Given the description of an element on the screen output the (x, y) to click on. 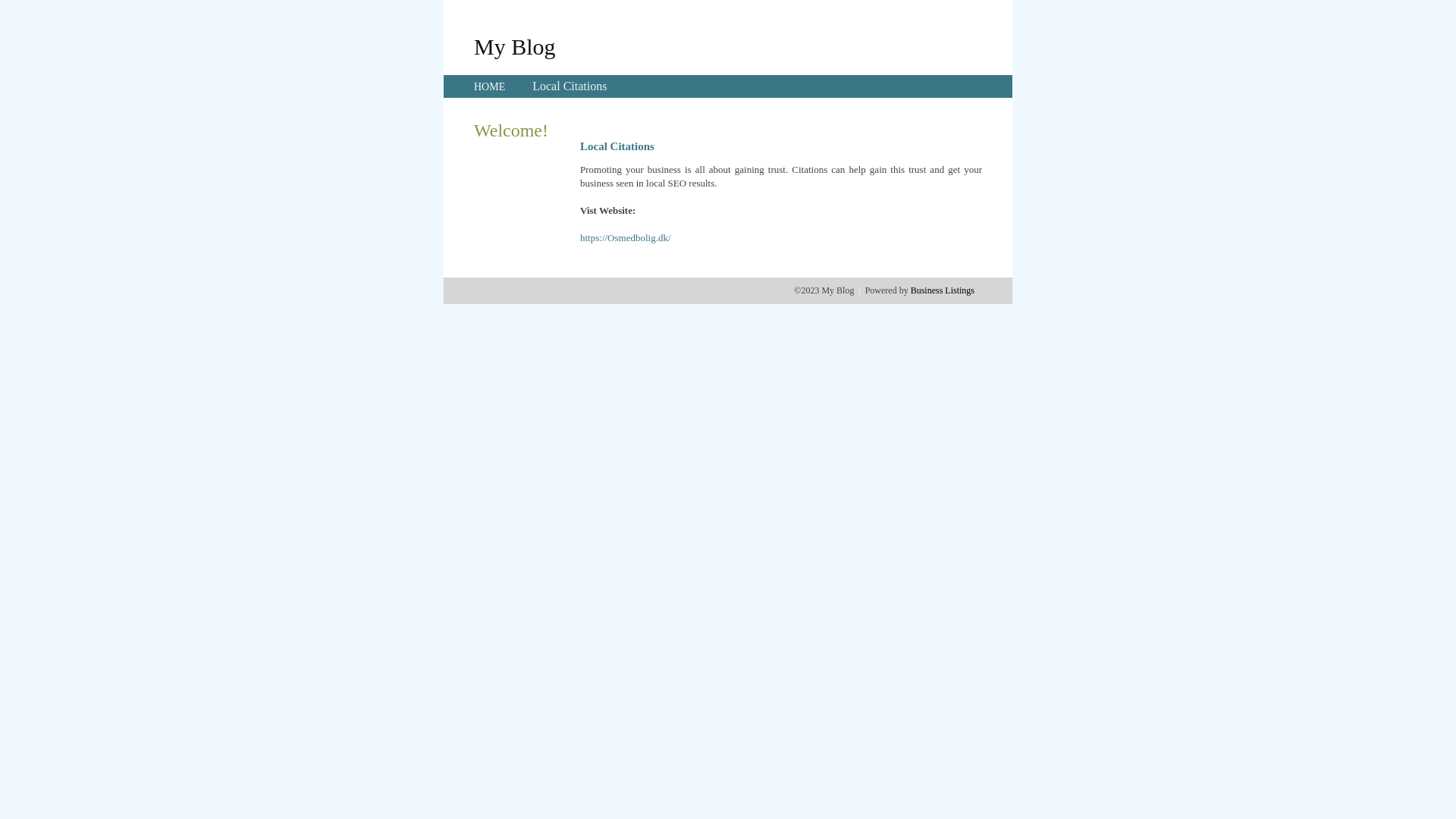
https://Osmedbolig.dk/ Element type: text (625, 237)
Local Citations Element type: text (569, 85)
My Blog Element type: text (514, 46)
HOME Element type: text (489, 86)
Business Listings Element type: text (942, 290)
